Given the description of an element on the screen output the (x, y) to click on. 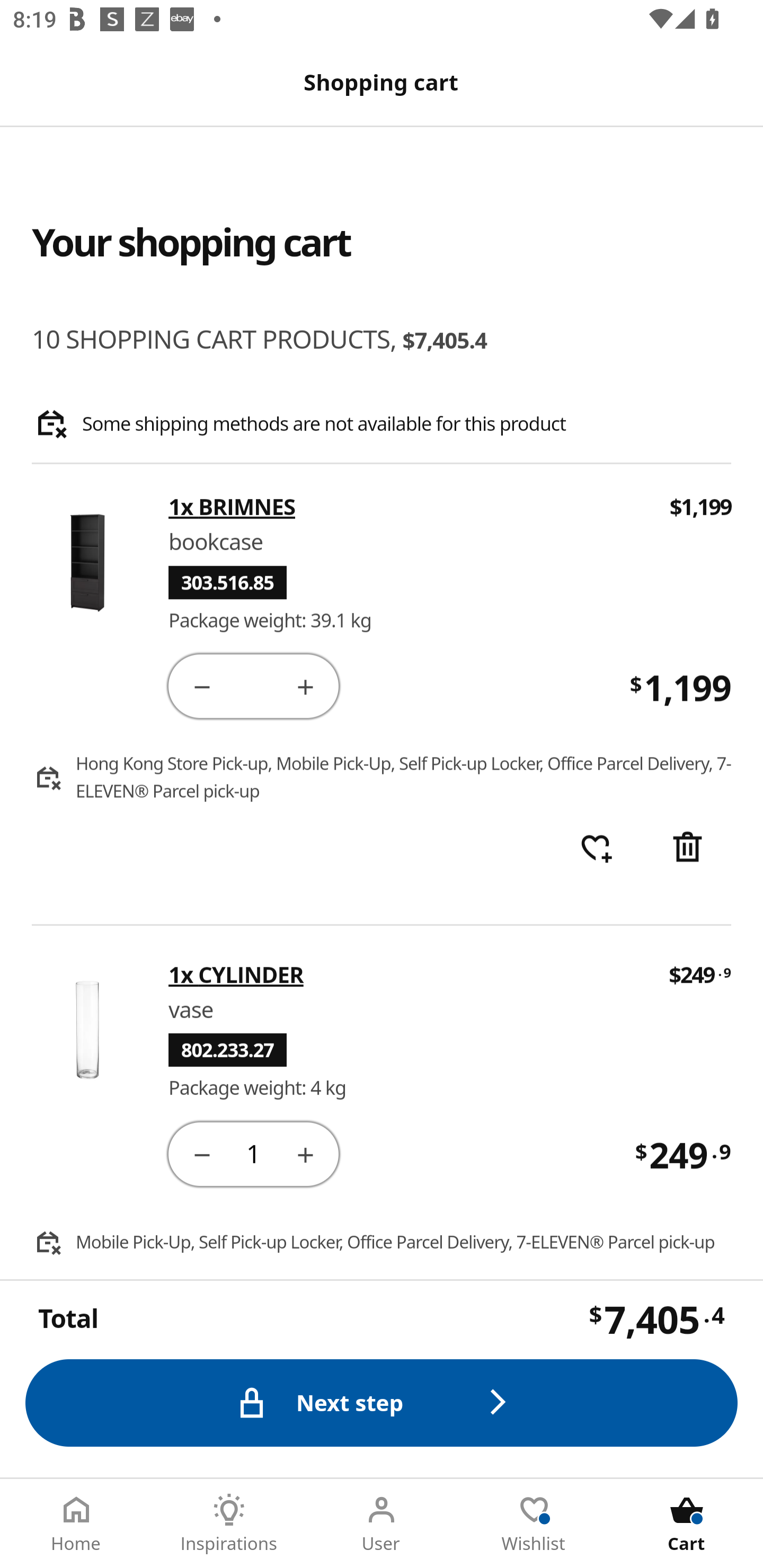
1x  BRIMNES 1x  BRIMNES (406, 507)
 (201, 685)
 (305, 685)
  (595, 848)
 (686, 848)
1x  CYLINDER 1x  CYLINDER (405, 974)
1 (253, 1153)
 (201, 1153)
 (305, 1153)
Home
Tab 1 of 5 (76, 1522)
Inspirations
Tab 2 of 5 (228, 1522)
User
Tab 3 of 5 (381, 1522)
Wishlist
Tab 4 of 5 (533, 1522)
Cart
Tab 5 of 5 (686, 1522)
